Given the description of an element on the screen output the (x, y) to click on. 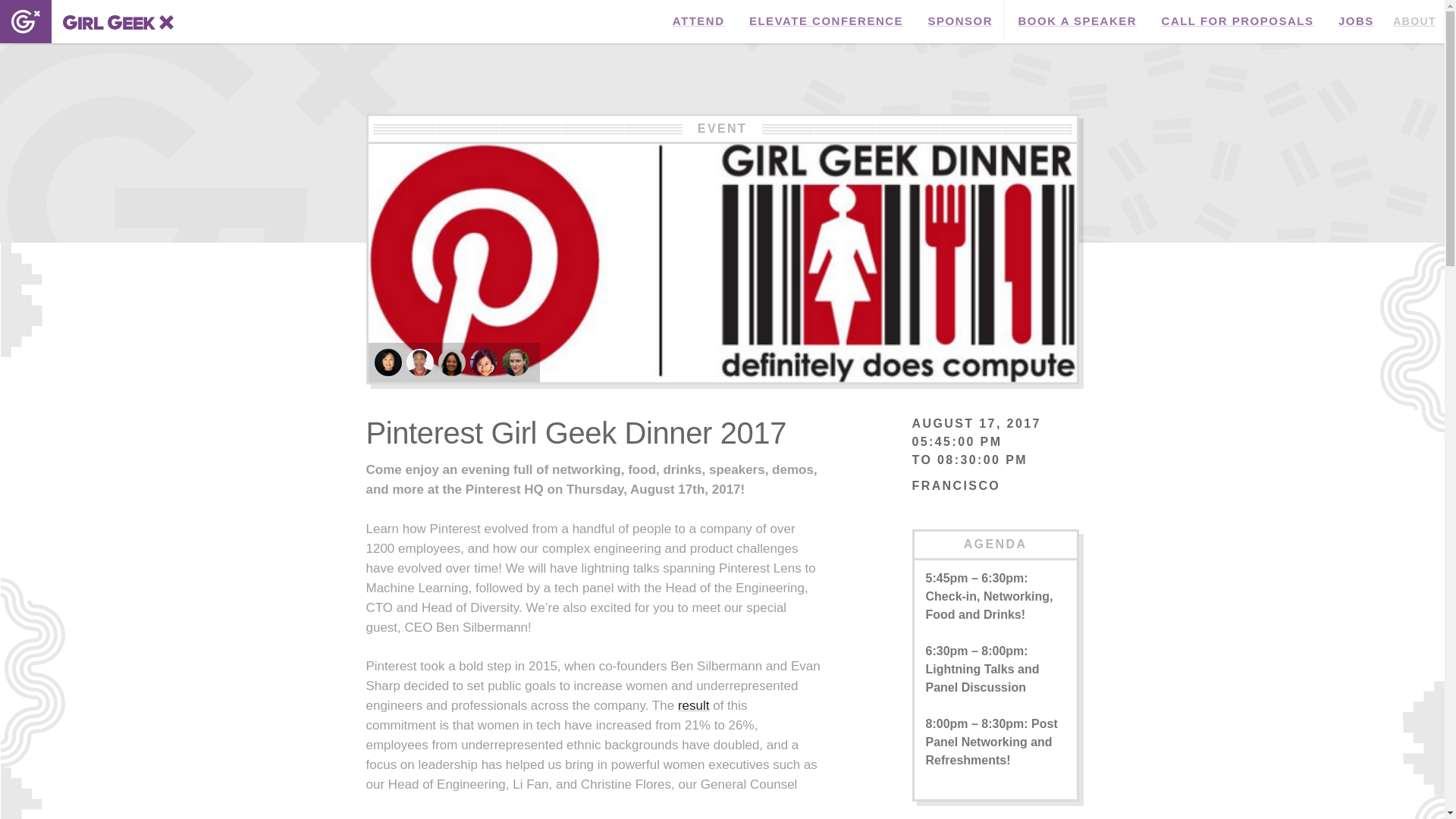
JOBS (1355, 21)
result (694, 705)
SPONSOR (960, 21)
BOOK A SPEAKER (1077, 21)
ATTEND (698, 21)
ELEVATE CONFERENCE (826, 21)
CALL FOR PROPOSALS (1237, 21)
